Given the description of an element on the screen output the (x, y) to click on. 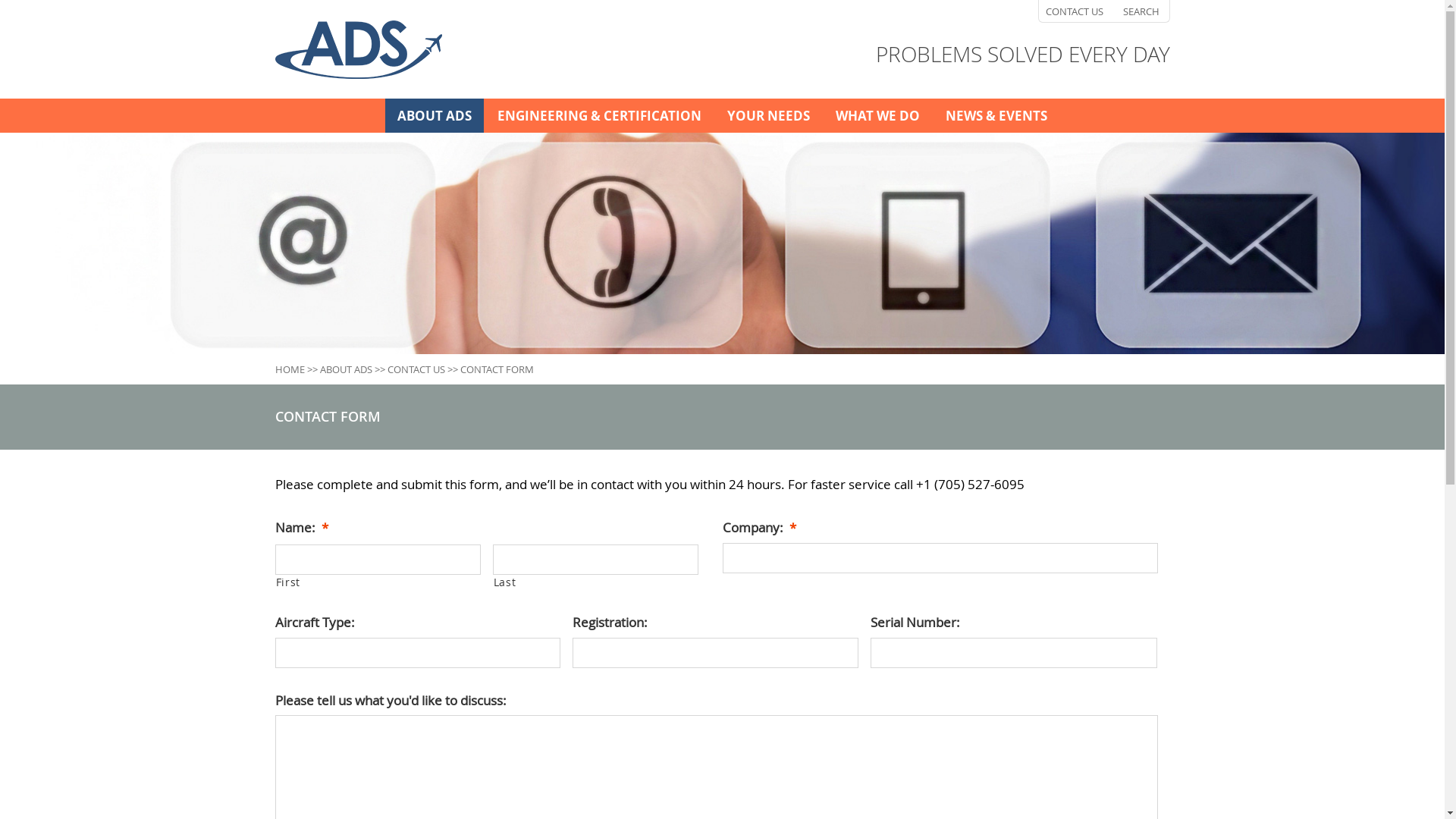
NEWS & EVENTS Element type: text (995, 115)
YOUR NEEDS Element type: text (767, 115)
CONTACT US Element type: text (415, 369)
ABOUT ADS Element type: text (346, 369)
CONTACT US Element type: text (1074, 11)
ABOUT ADS Element type: text (434, 115)
SEARCH Element type: text (1141, 11)
WHAT WE DO Element type: text (877, 115)
ENGINEERING & CERTIFICATION Element type: text (599, 115)
HOME Element type: text (289, 369)
